Given the description of an element on the screen output the (x, y) to click on. 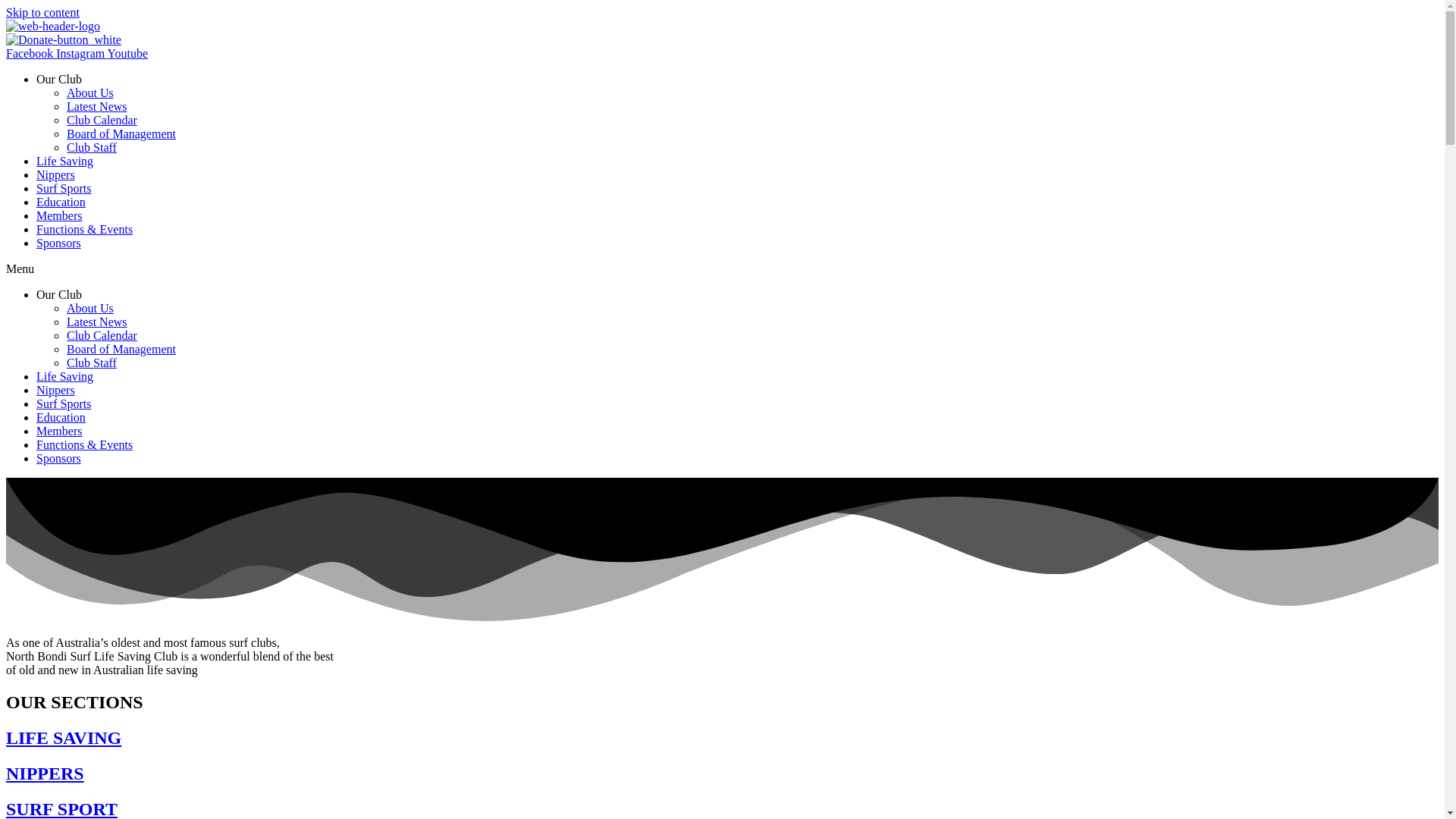
Sponsors (58, 242)
Sponsors (58, 458)
Members (58, 215)
Our Club (58, 294)
Life Saving (64, 376)
SURF SPORT (61, 809)
Club Staff (91, 146)
Nippers (55, 174)
Our Club (58, 78)
Nippers (55, 390)
Latest News (97, 106)
About Us (89, 308)
Members (58, 431)
Club Calendar (101, 119)
Surf Sports (63, 187)
